Given the description of an element on the screen output the (x, y) to click on. 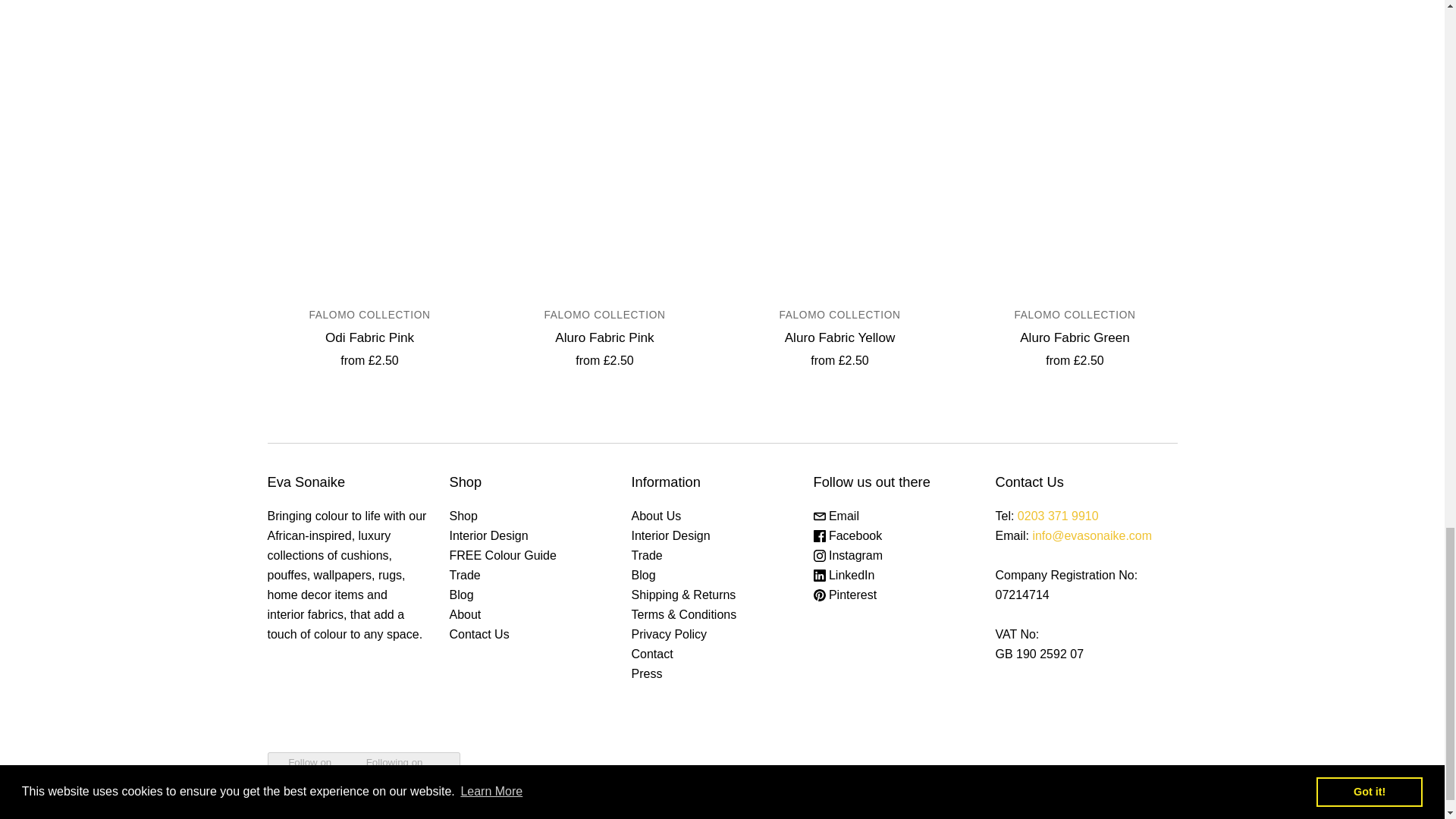
Pinterest (844, 594)
tel:0203 371 9910 (1058, 515)
Falomo Collection (604, 315)
LinkedIn (843, 574)
Facebook (847, 535)
Falomo Collection (838, 315)
Falomo Collection (368, 315)
Falomo Collection (1074, 315)
Instagram (847, 554)
Email (835, 515)
